Given the description of an element on the screen output the (x, y) to click on. 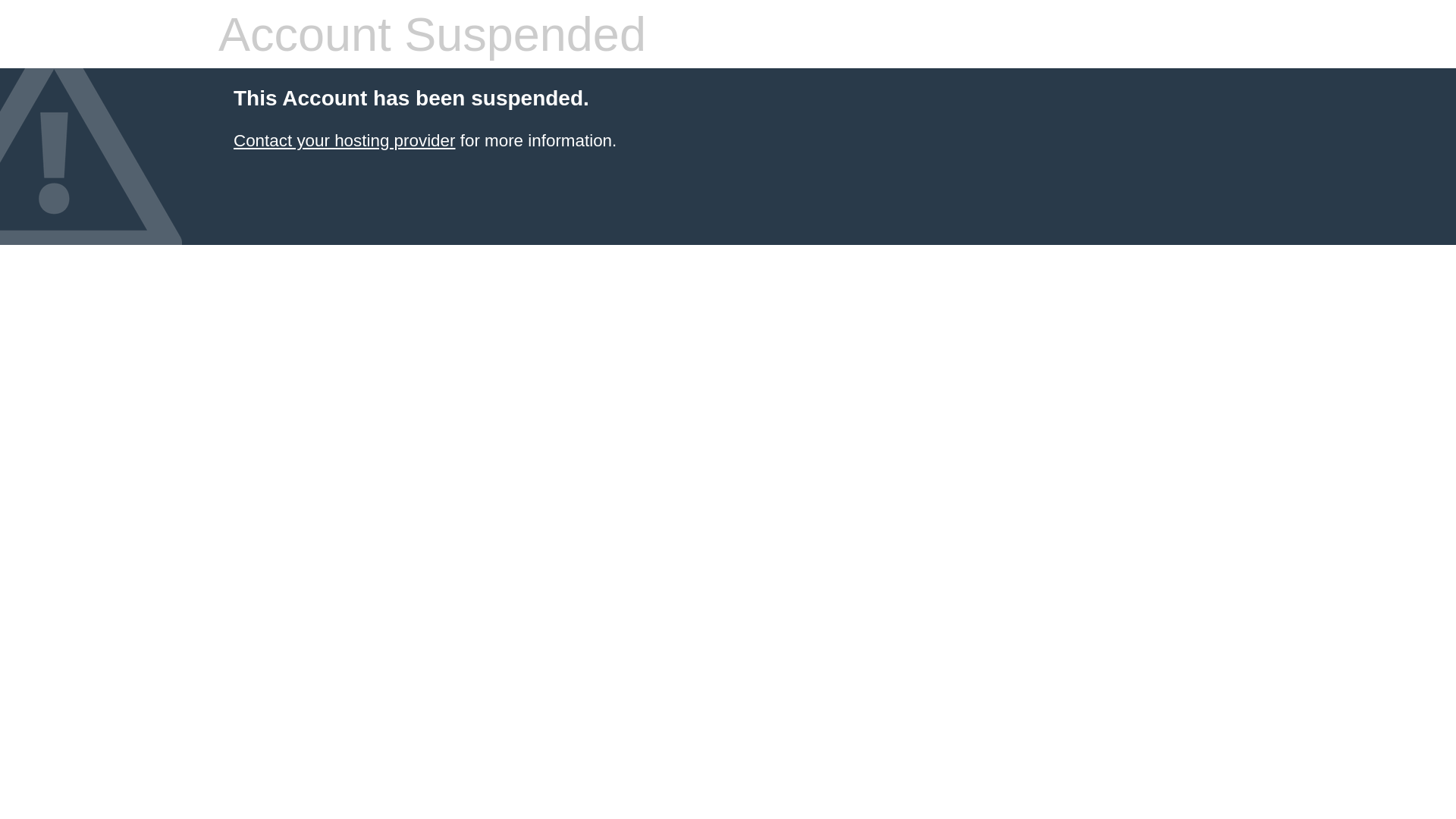
Contact your hosting provider Element type: text (344, 140)
